Given the description of an element on the screen output the (x, y) to click on. 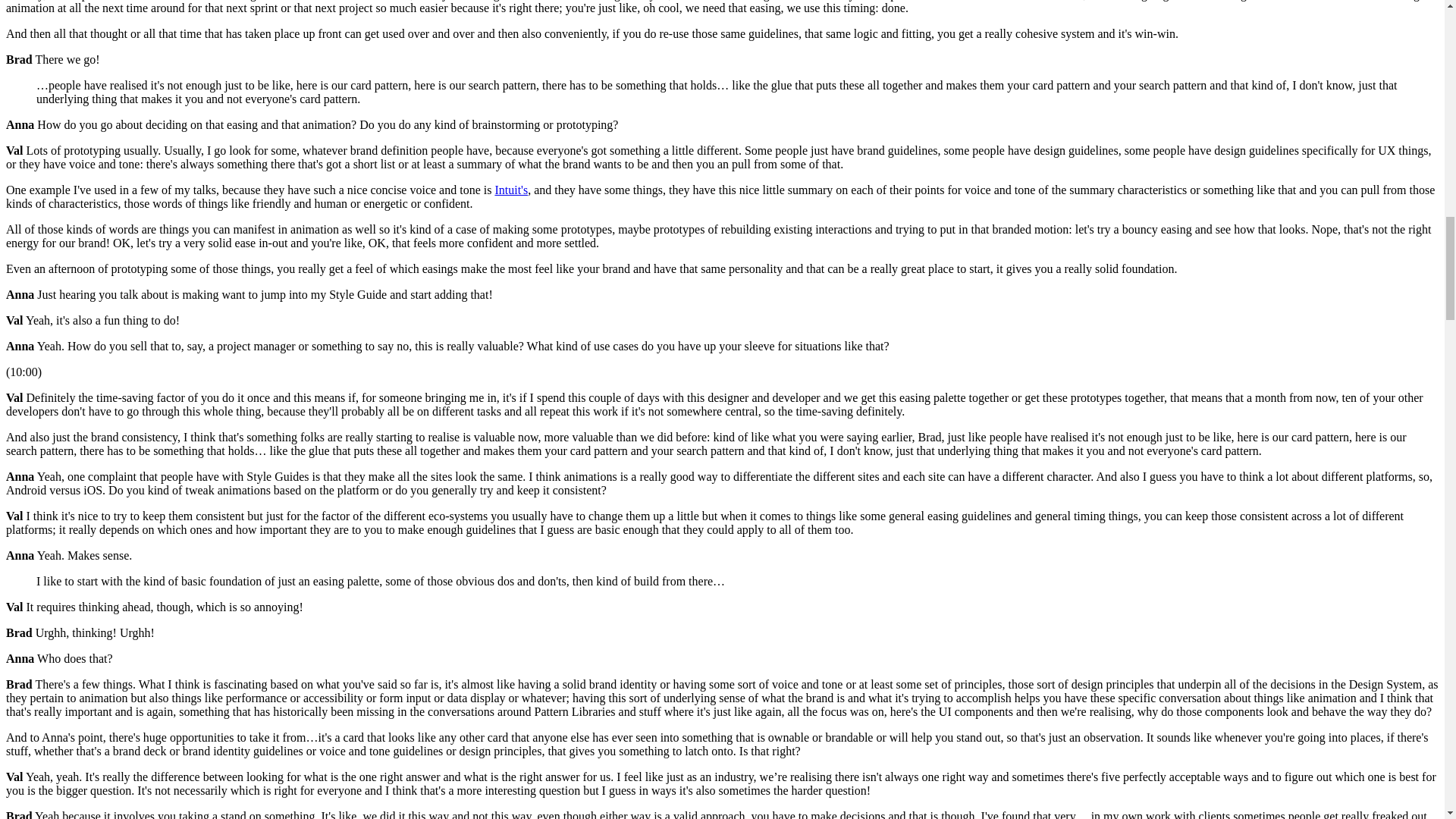
Intuit's (511, 189)
